Given the description of an element on the screen output the (x, y) to click on. 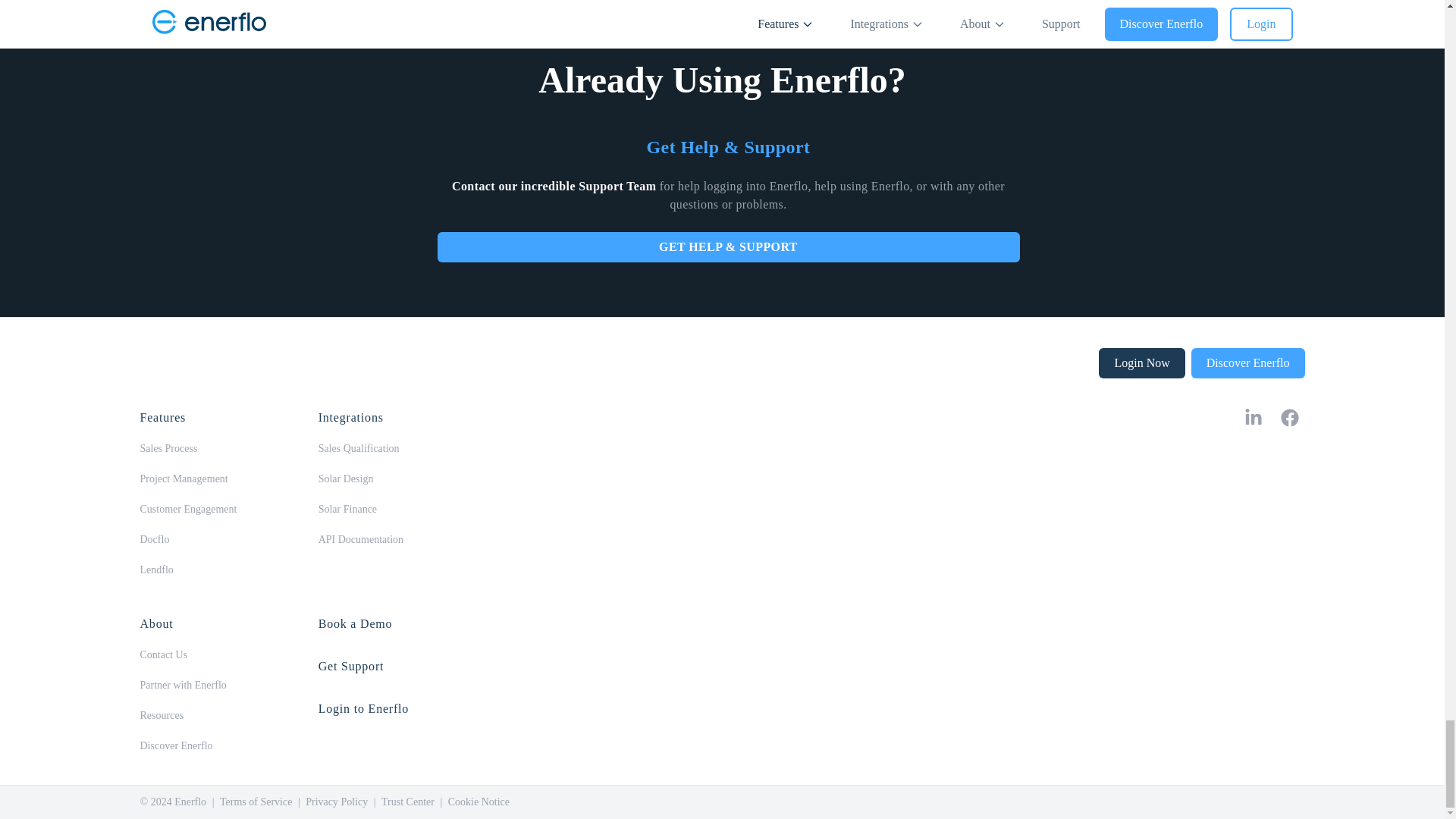
Get Support (351, 666)
Sales Qualification (358, 448)
Solar Design (346, 478)
Partner with Enerflo (182, 685)
SOC for Service Organizations (1146, 699)
Docflo (153, 539)
Lendflo (156, 569)
Login Now (1142, 363)
Integrations (351, 417)
Customer Engagement (187, 509)
Sales Process (167, 448)
API Documentation (360, 539)
Login to Enerflo (363, 707)
Solar Finance (347, 509)
Discover Enerflo (175, 745)
